Given the description of an element on the screen output the (x, y) to click on. 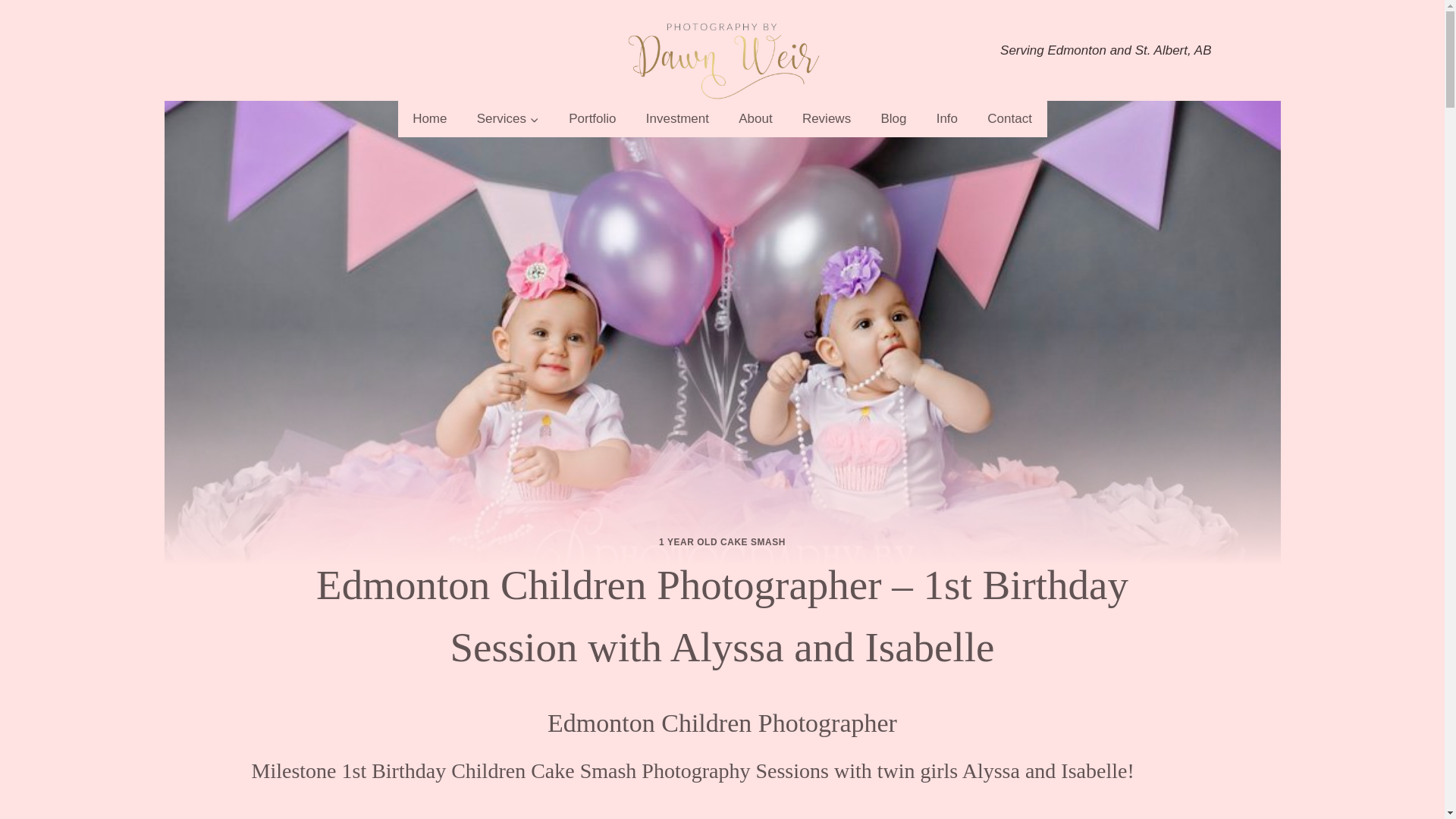
Blog (893, 118)
1 YEAR OLD CAKE SMASH (722, 542)
Home (429, 118)
Portfolio (592, 118)
Contact (1009, 118)
Investment (676, 118)
Info (946, 118)
About (755, 118)
Reviews (826, 118)
Services (507, 118)
